Given the description of an element on the screen output the (x, y) to click on. 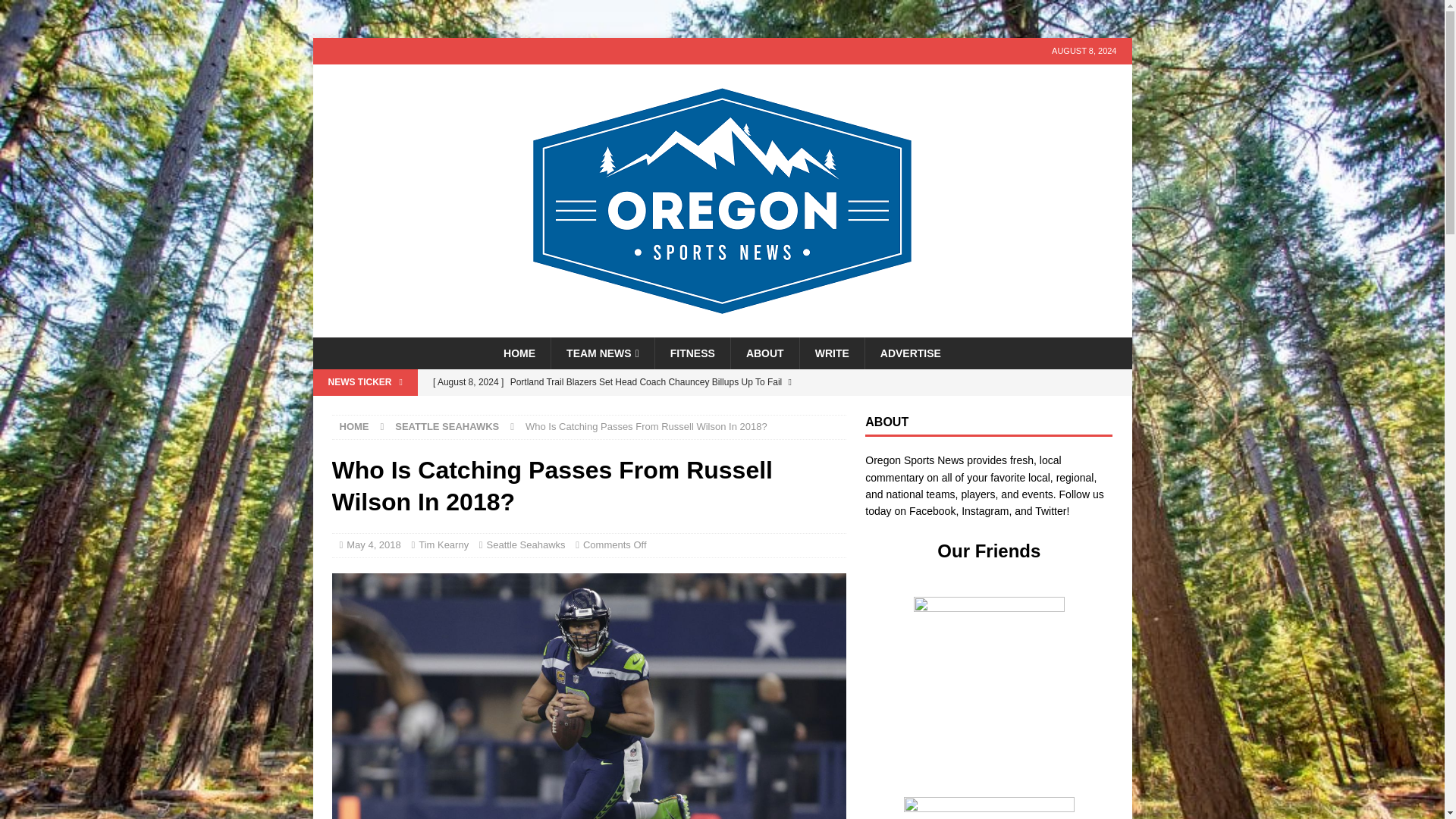
HOME (354, 426)
Oregon Sports News (721, 328)
TEAM NEWS (601, 353)
WRITE (831, 353)
FITNESS (691, 353)
ABOUT (764, 353)
SEATTLE SEAHAWKS (446, 426)
HOME (518, 353)
ADVERTISE (910, 353)
